Given the description of an element on the screen output the (x, y) to click on. 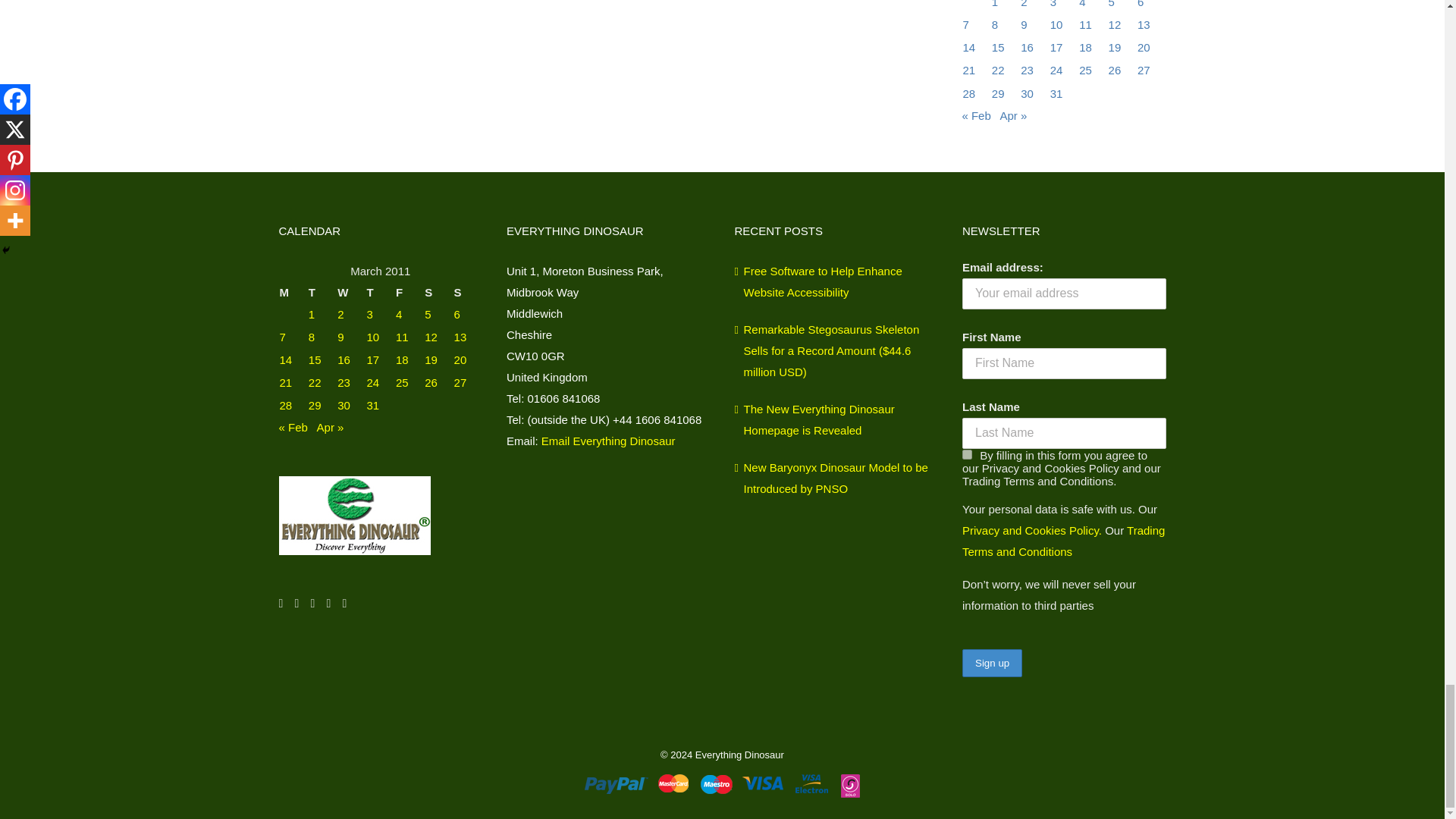
Sign up (992, 663)
subscribe (967, 454)
